Given the description of an element on the screen output the (x, y) to click on. 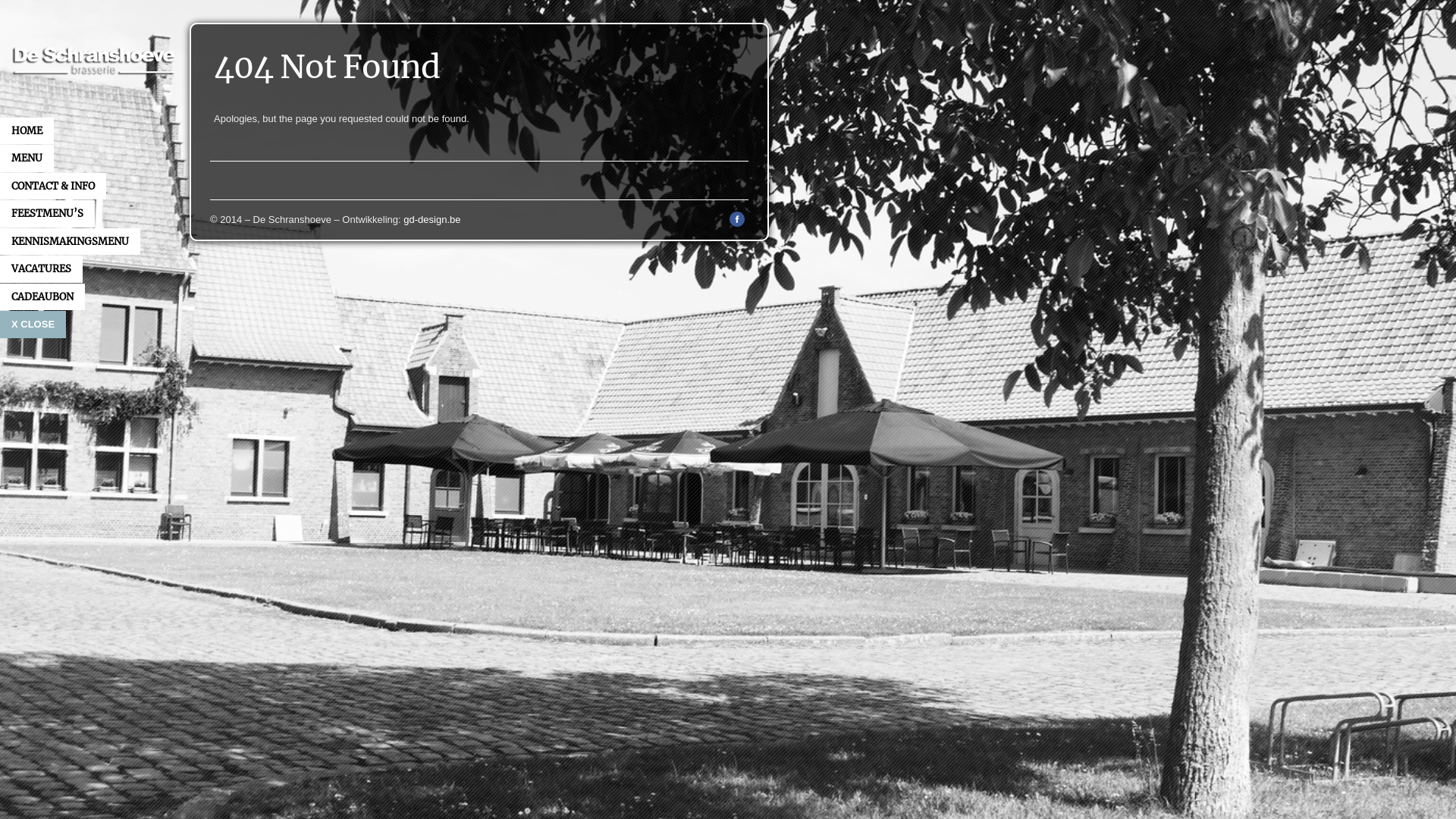
gd-design.be Element type: text (431, 219)
Facebook Element type: hover (736, 222)
